Given the description of an element on the screen output the (x, y) to click on. 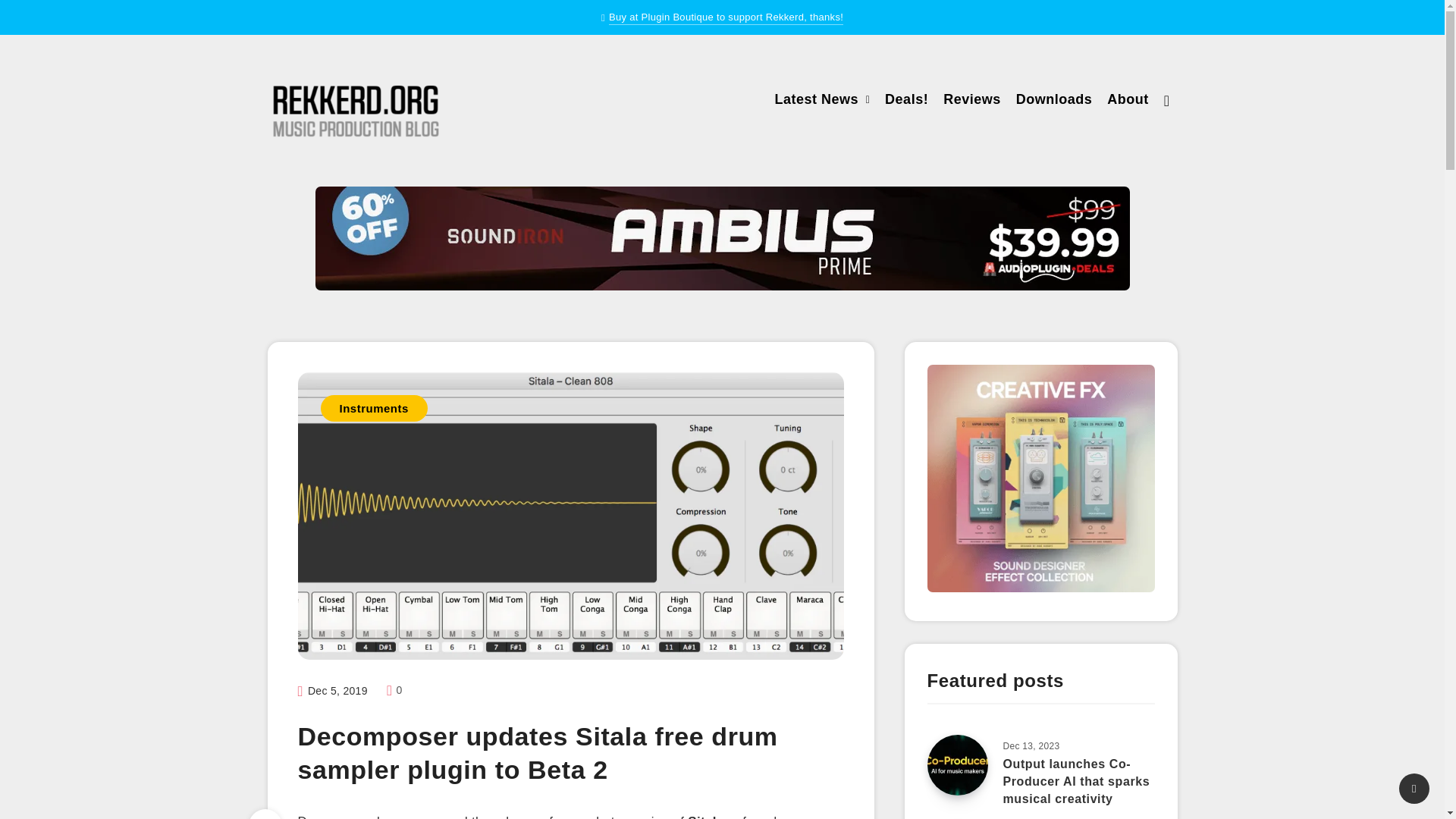
Go to comments (394, 689)
Deals! (906, 101)
Downloads (1054, 101)
Latest News (816, 101)
Instruments (373, 407)
0 (394, 689)
Buy at Plugin Boutique to support Rekkerd, thanks! (725, 17)
Reviews (972, 101)
About (1127, 101)
